Given the description of an element on the screen output the (x, y) to click on. 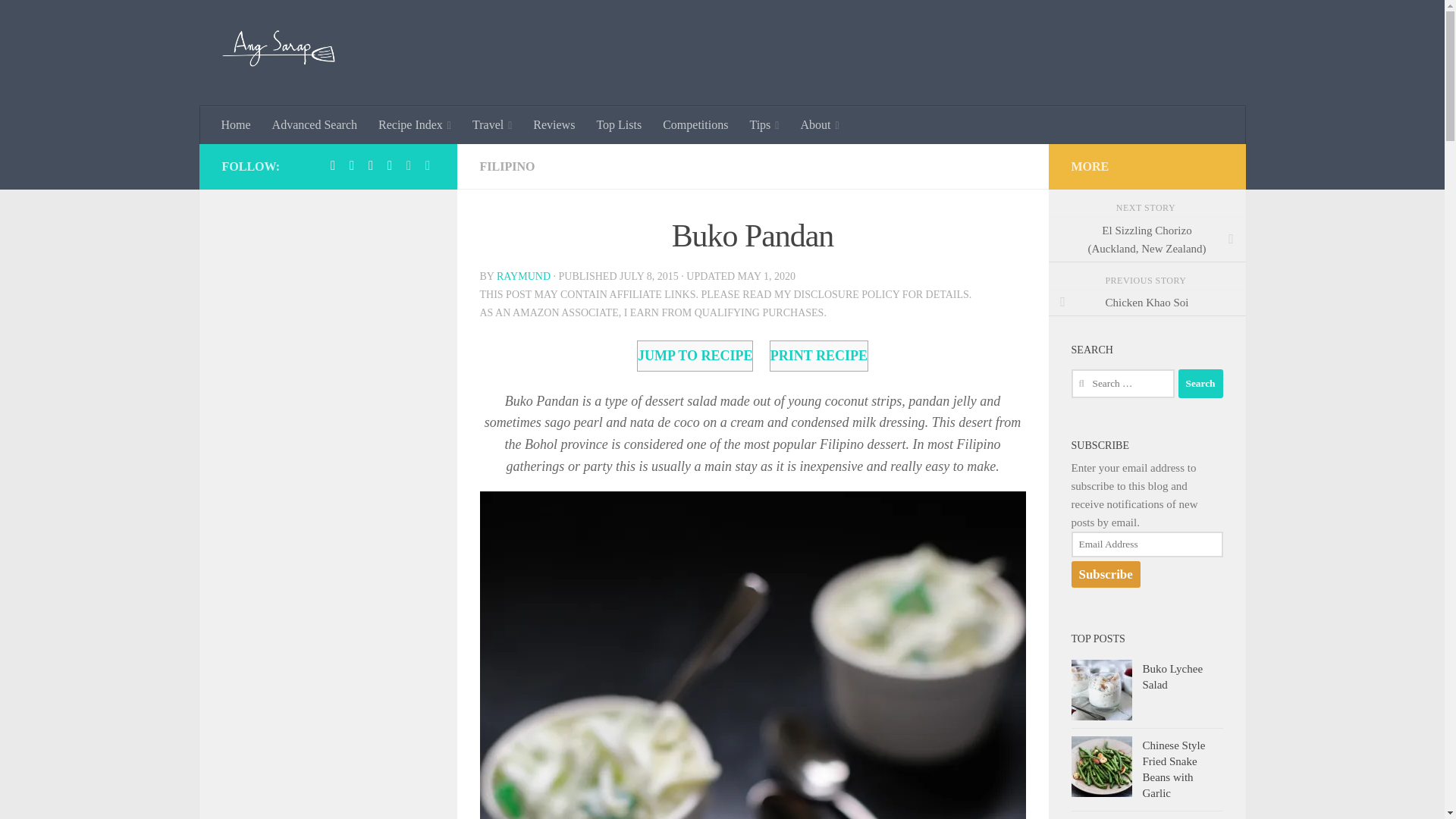
Skip to content (59, 20)
Posts by Raymund (523, 276)
Search (1200, 383)
Follow us on Twitter (407, 164)
Pinterest (352, 164)
Follow us on Youtube (427, 164)
Recipe Index (414, 125)
JUMP TO RECIPE (694, 355)
Instagram (390, 164)
Tumblr (370, 164)
Advanced Search (315, 125)
Home (236, 125)
Search (1200, 383)
Facebook (332, 164)
